Given the description of an element on the screen output the (x, y) to click on. 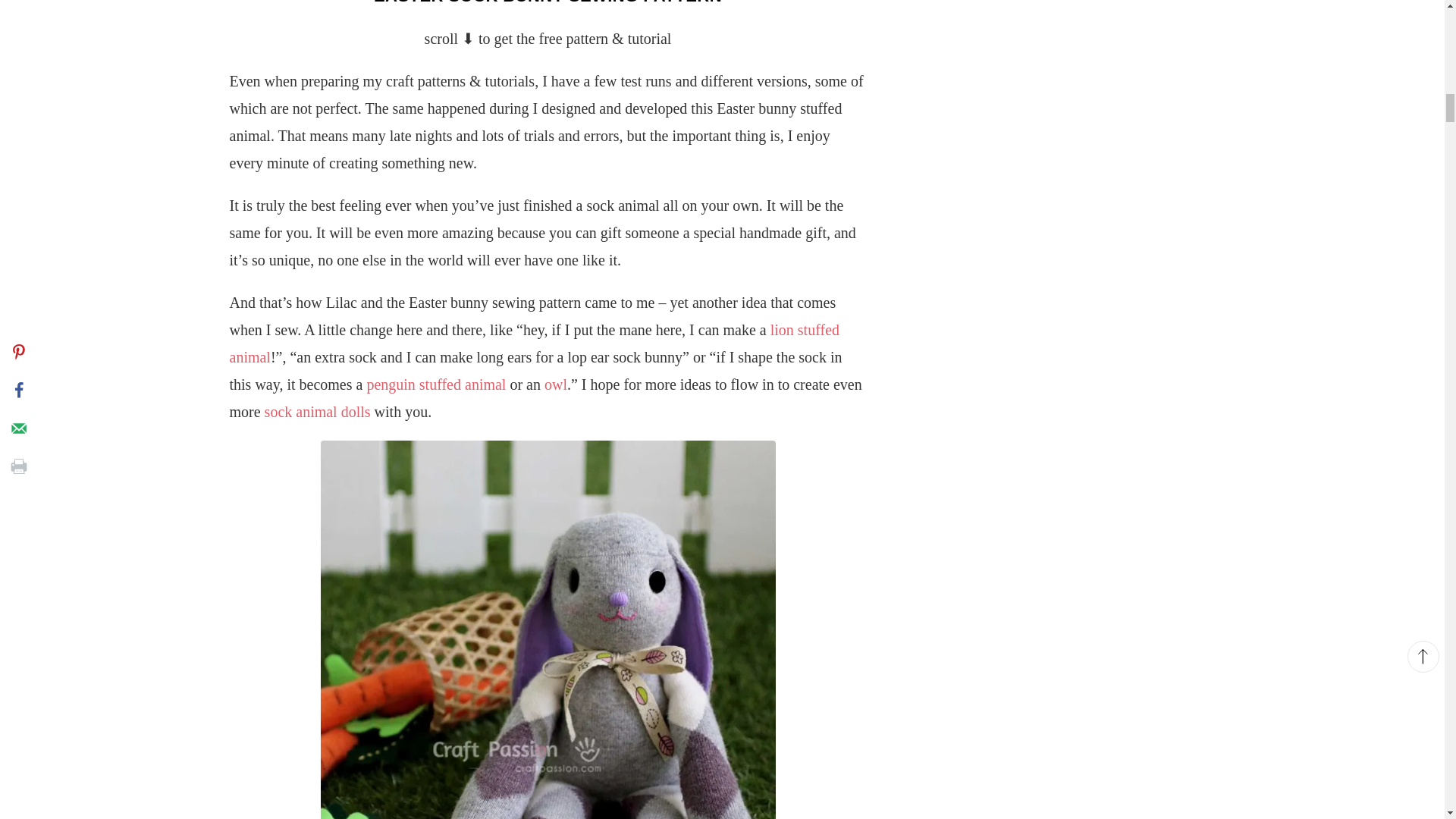
penguin stuffed animal (435, 384)
sock animal dolls (317, 411)
lion stuffed animal (534, 343)
owl (555, 384)
